Given the description of an element on the screen output the (x, y) to click on. 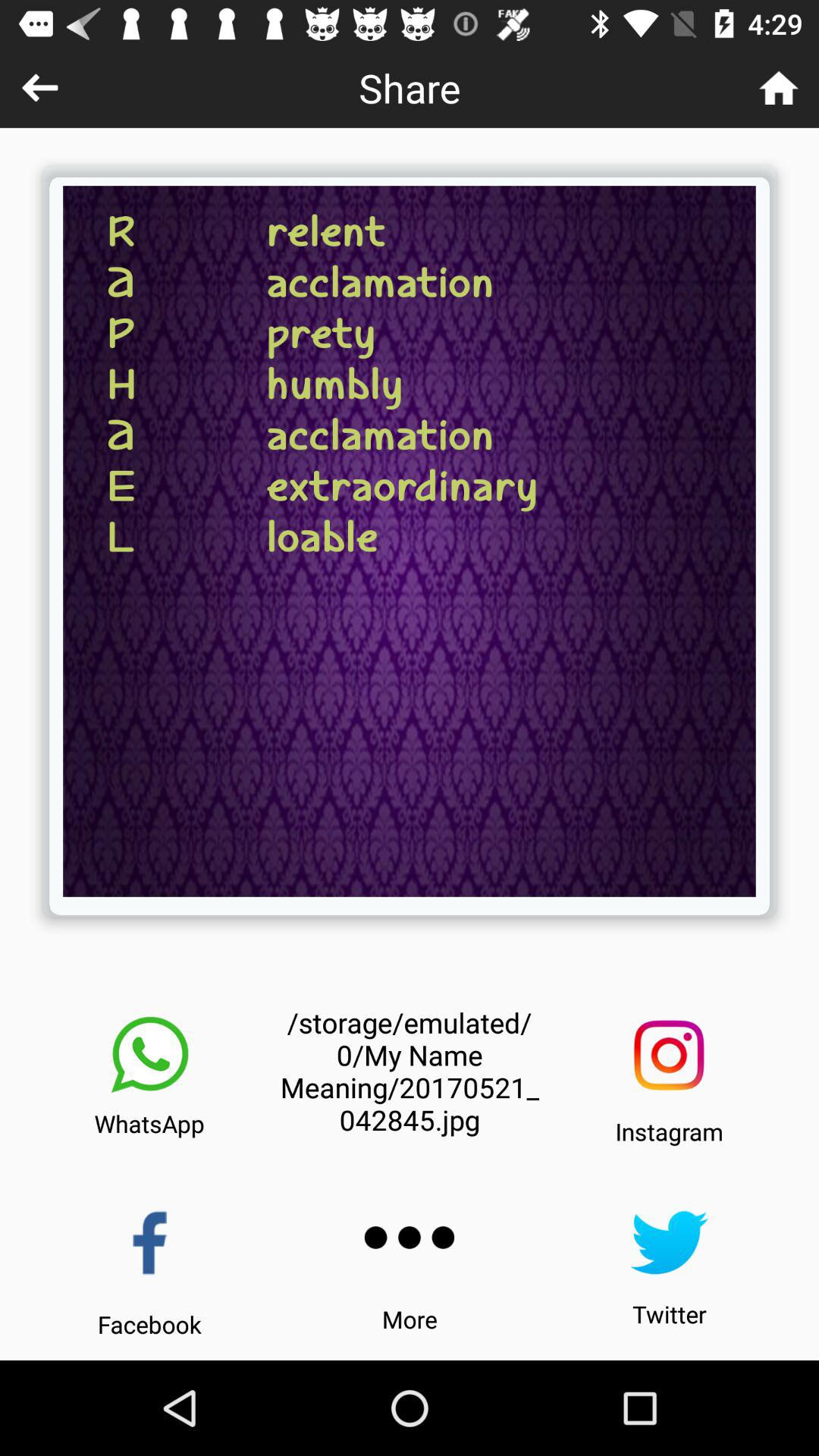
go home (778, 87)
